Given the description of an element on the screen output the (x, y) to click on. 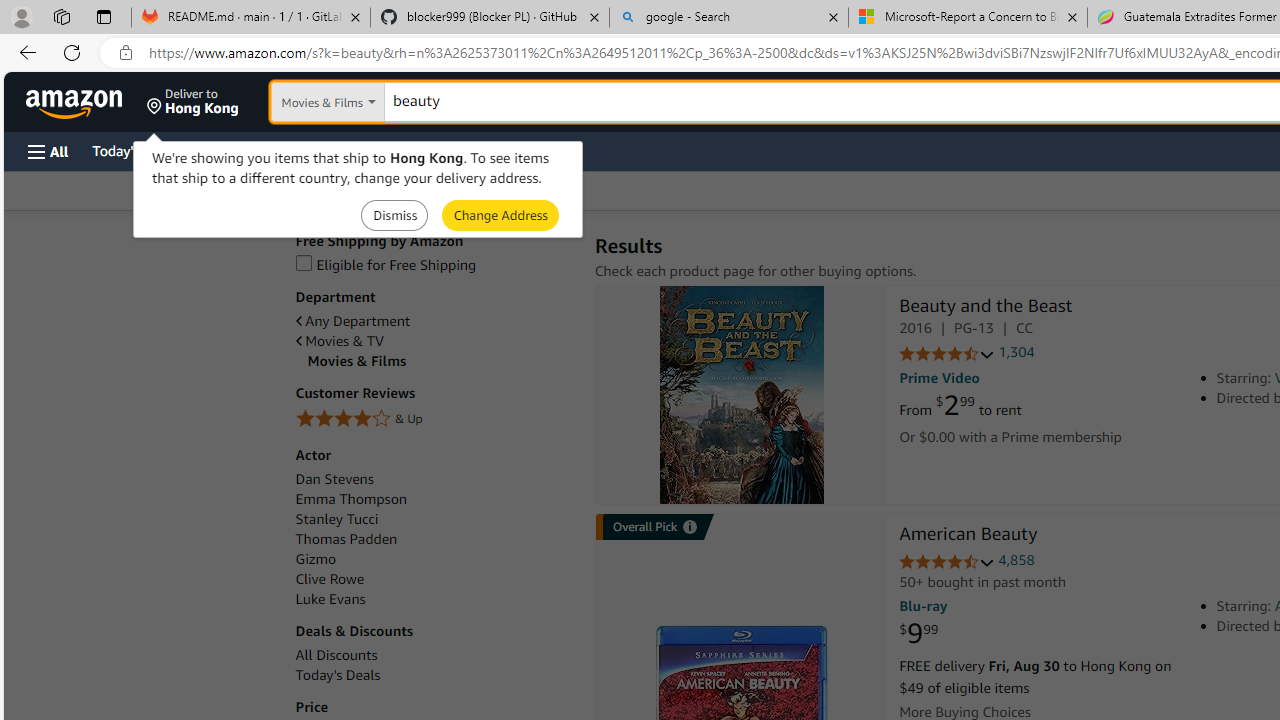
Gift Cards (442, 150)
Amazon (76, 101)
Beauty and the Beast (741, 394)
Clive Rowe (434, 579)
Eligible for Free Shipping (385, 264)
Thomas Padden (434, 539)
Any Department (352, 321)
Today's Deals (434, 675)
Thomas Padden (346, 538)
Movies & TV (339, 341)
Luke Evans (434, 599)
